Given the description of an element on the screen output the (x, y) to click on. 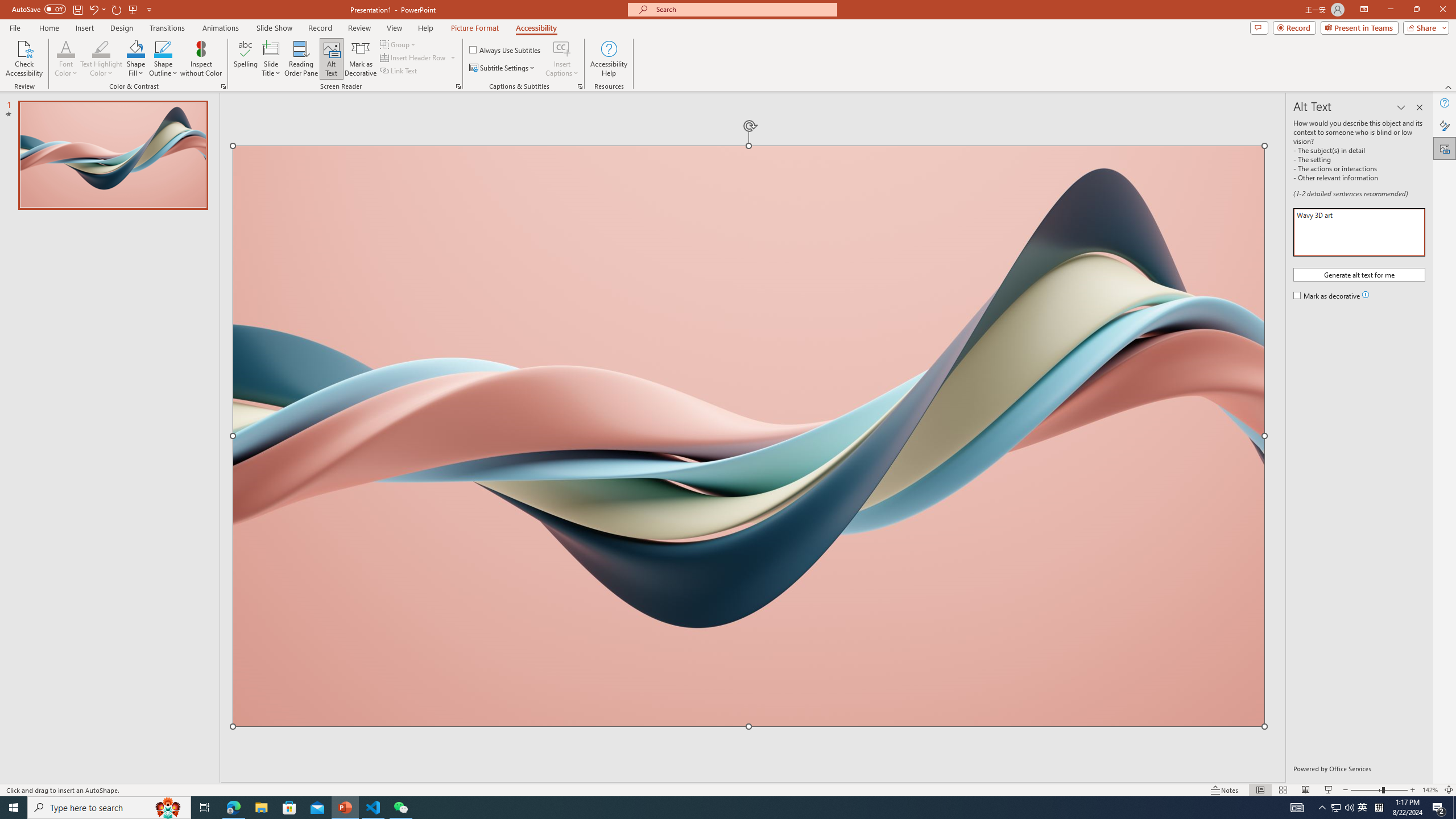
Color & Contrast (223, 85)
Captions & Subtitles (580, 85)
Group (398, 44)
Always Use Subtitles (505, 49)
Mark as decorative (1327, 296)
